Given the description of an element on the screen output the (x, y) to click on. 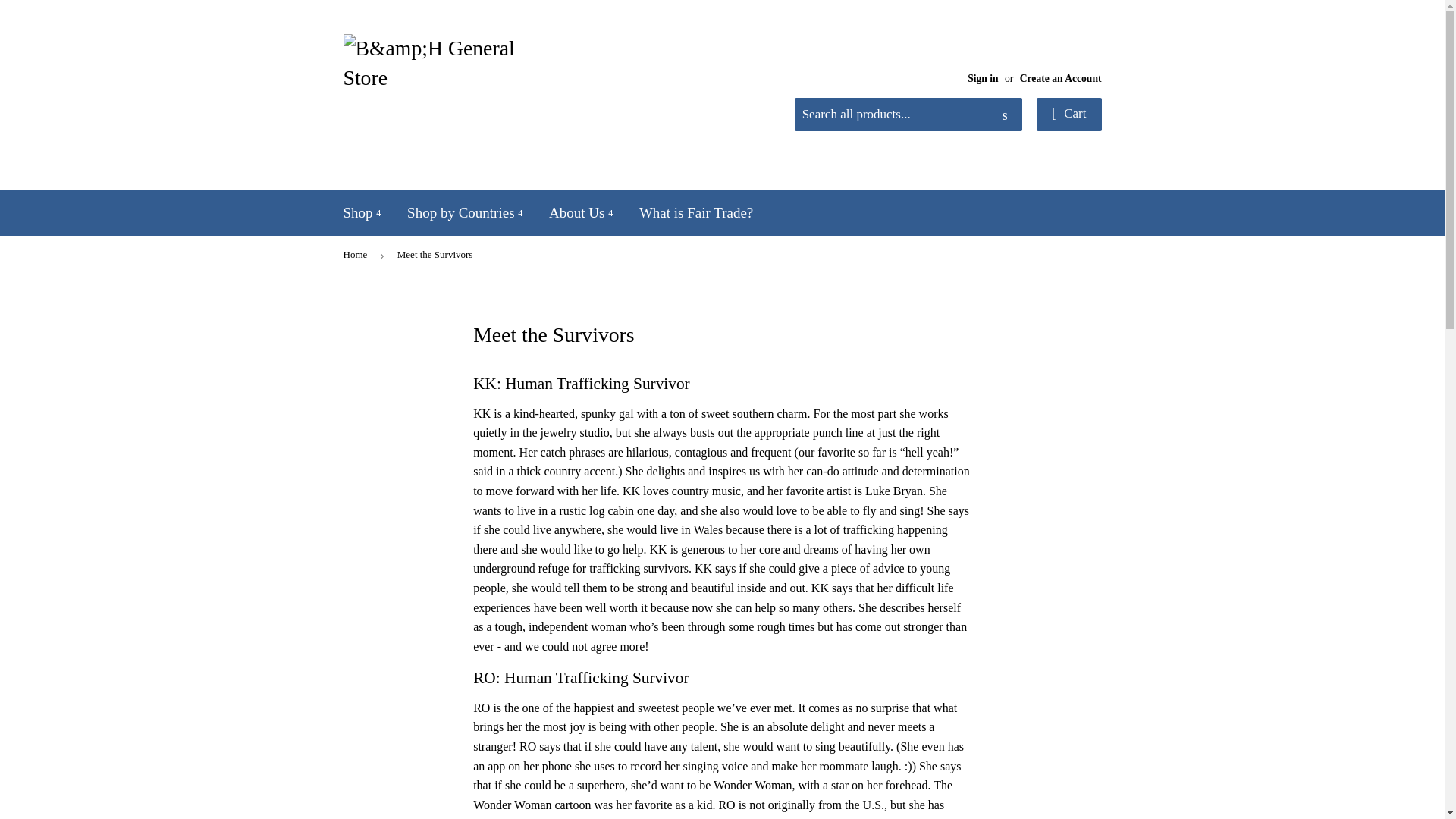
Search (1005, 115)
Sign in (982, 78)
Create an Account (1061, 78)
Cart (1069, 114)
